Given the description of an element on the screen output the (x, y) to click on. 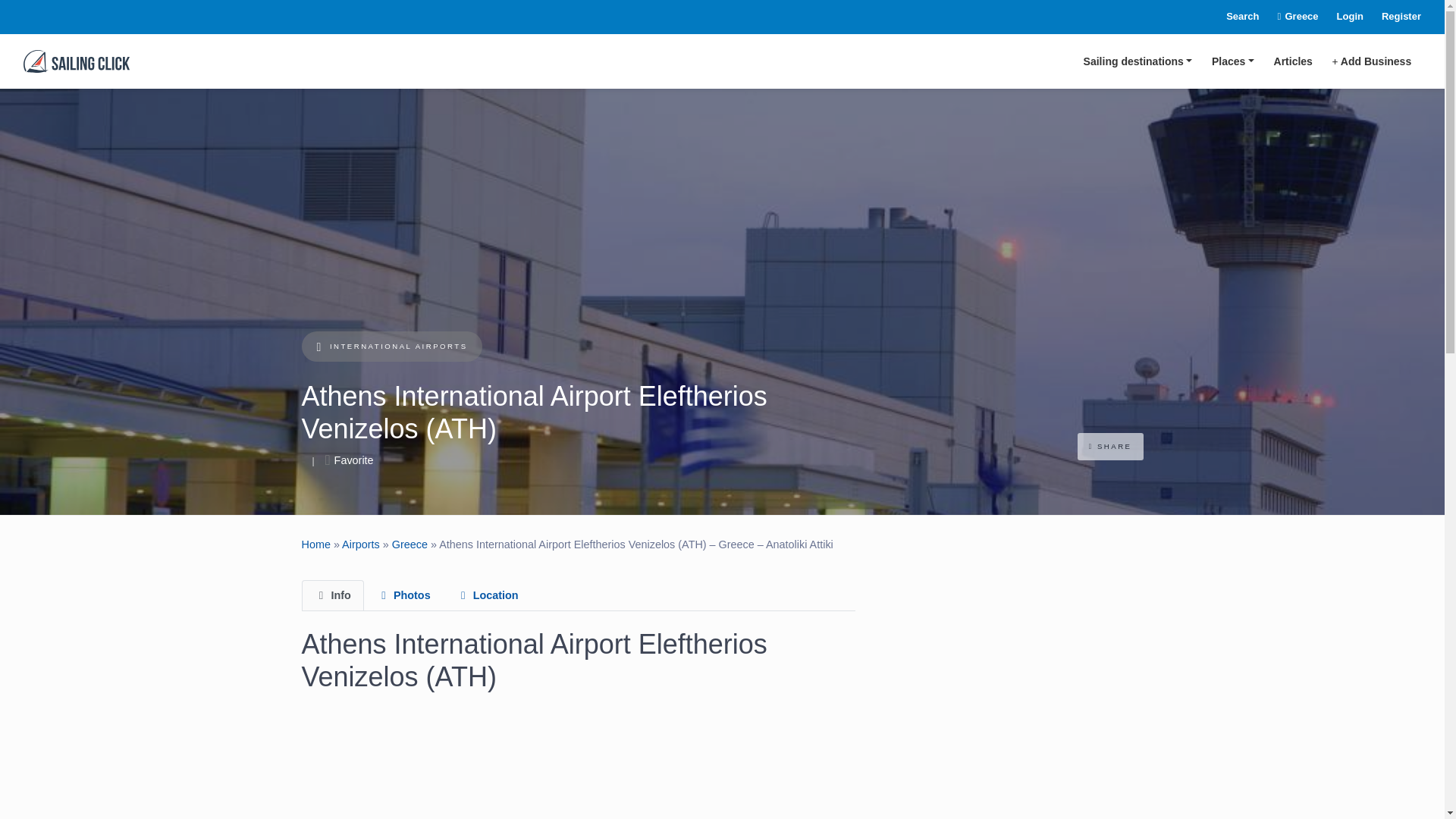
Sailing destinations (1138, 61)
Photos (404, 594)
 Greece (1289, 17)
Location (487, 594)
Login (1340, 17)
Search (1233, 17)
Register (1391, 17)
Login (1340, 17)
Search (1233, 17)
Info (332, 594)
